Given the description of an element on the screen output the (x, y) to click on. 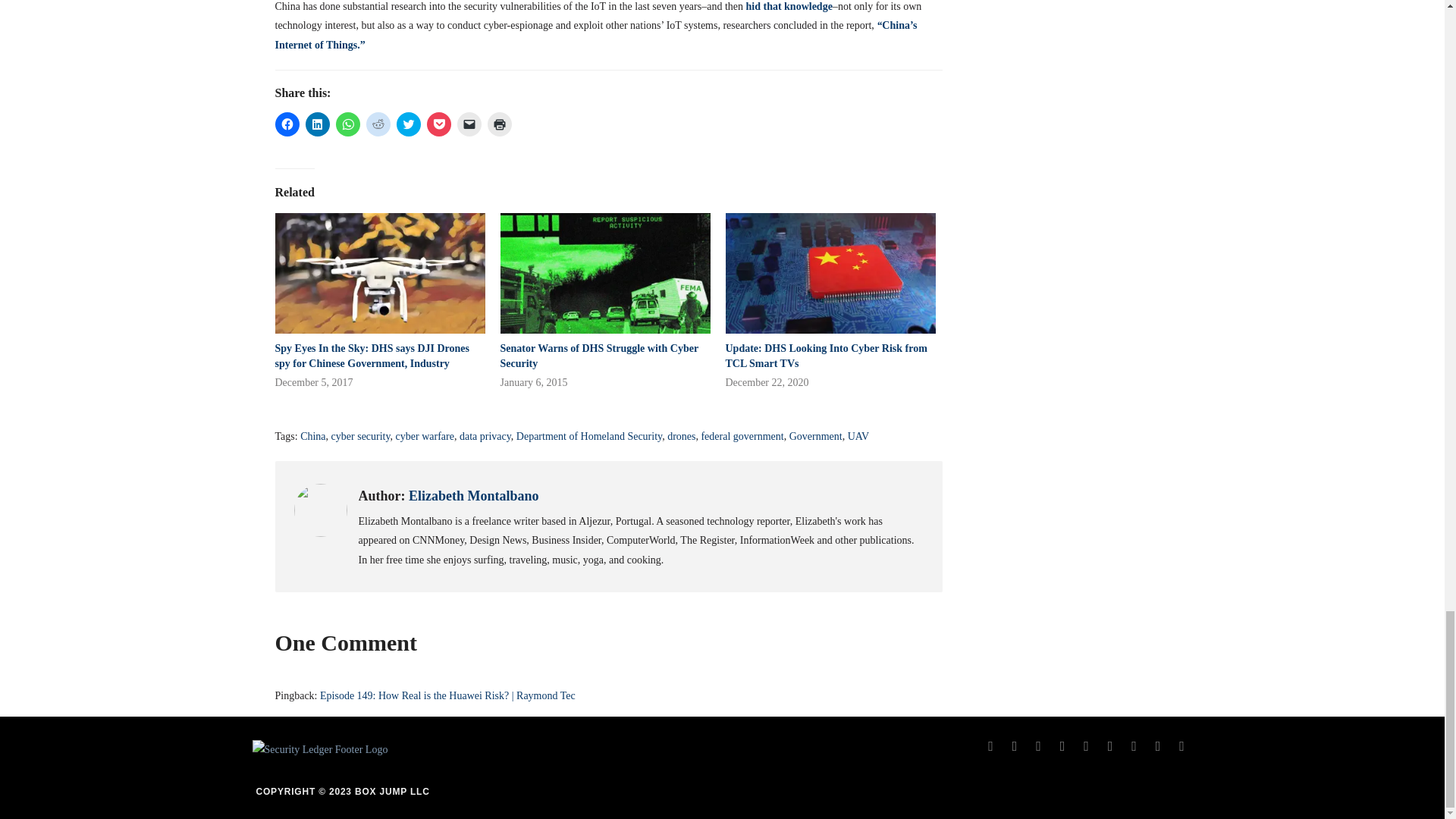
Click to share on LinkedIn (316, 124)
Click to share on Facebook (286, 124)
